Given the description of an element on the screen output the (x, y) to click on. 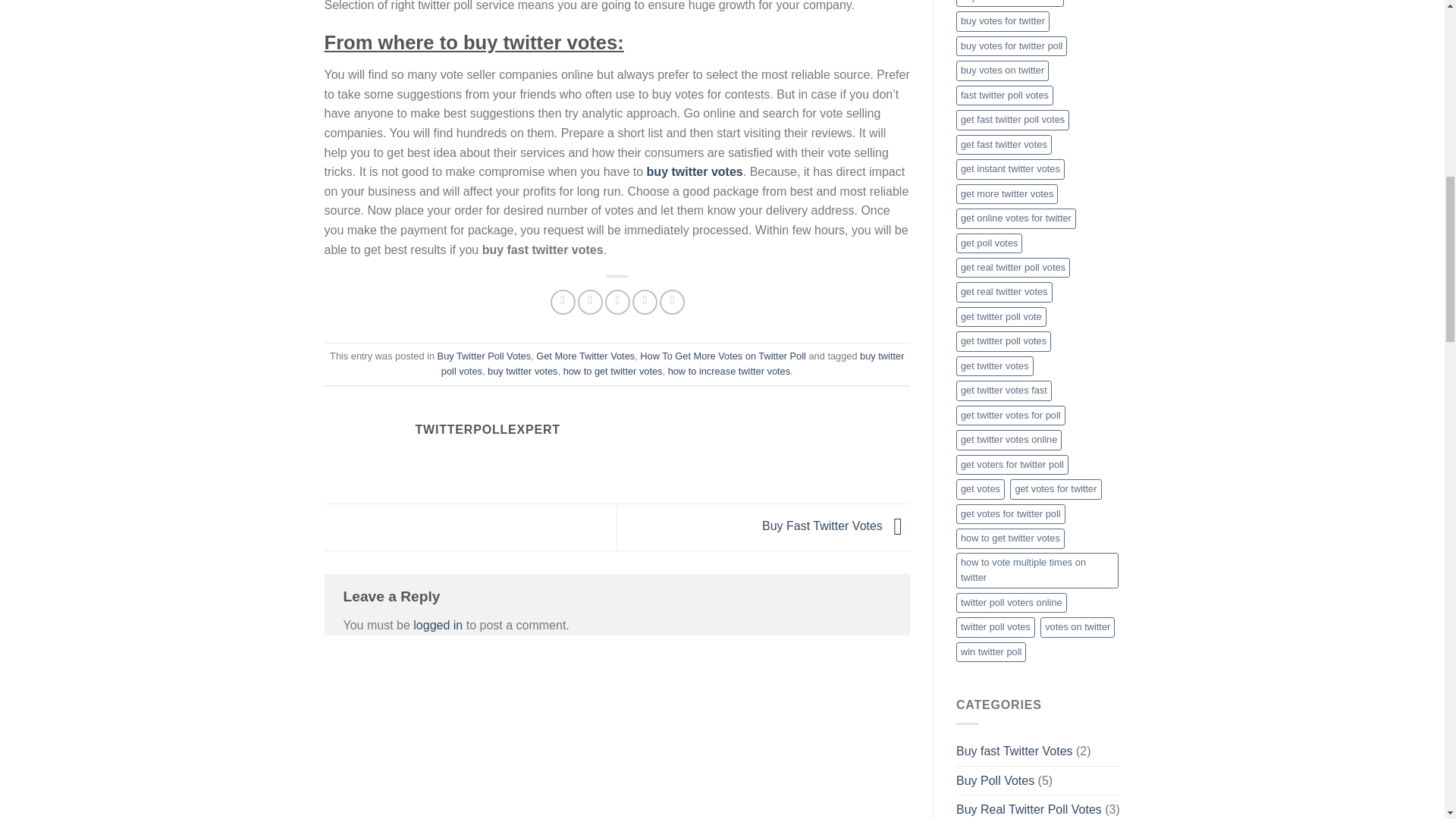
Email to a Friend (617, 301)
Get More Twitter Votes (584, 355)
buy twitter poll votes (672, 363)
Pin on Pinterest (644, 301)
how to increase twitter votes (729, 370)
Share on Facebook (562, 301)
how to get twitter votes (612, 370)
How To Get More Votes on Twitter Poll (723, 355)
Buy Twitter Poll Votes (484, 355)
Share on LinkedIn (671, 301)
buy twitter votes (522, 370)
Share on Twitter (590, 301)
Buy Fast Twitter Votes (835, 526)
logged in (438, 625)
buy twitter votes (694, 171)
